Given the description of an element on the screen output the (x, y) to click on. 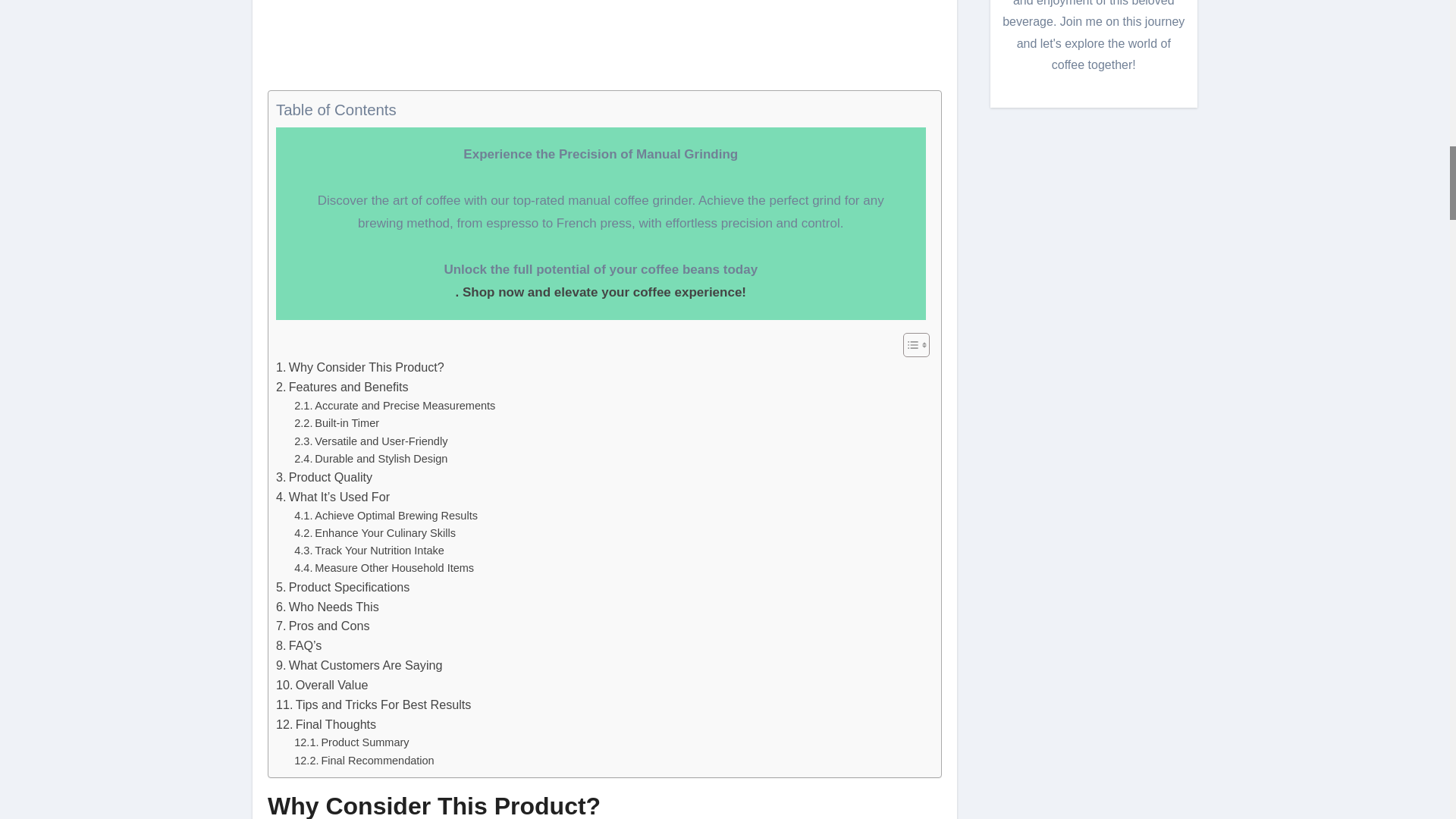
Durable and Stylish Design (370, 458)
Features and Benefits (342, 387)
. Shop now and elevate your coffee experience! (599, 292)
Why Consider This Product? (360, 367)
Accurate and Precise Measurements (394, 405)
Why Consider This Product? (360, 367)
Features and Benefits (342, 387)
Built-in Timer (336, 423)
Accurate and Precise Measurements (394, 405)
Versatile and User-Friendly (370, 440)
